Given the description of an element on the screen output the (x, y) to click on. 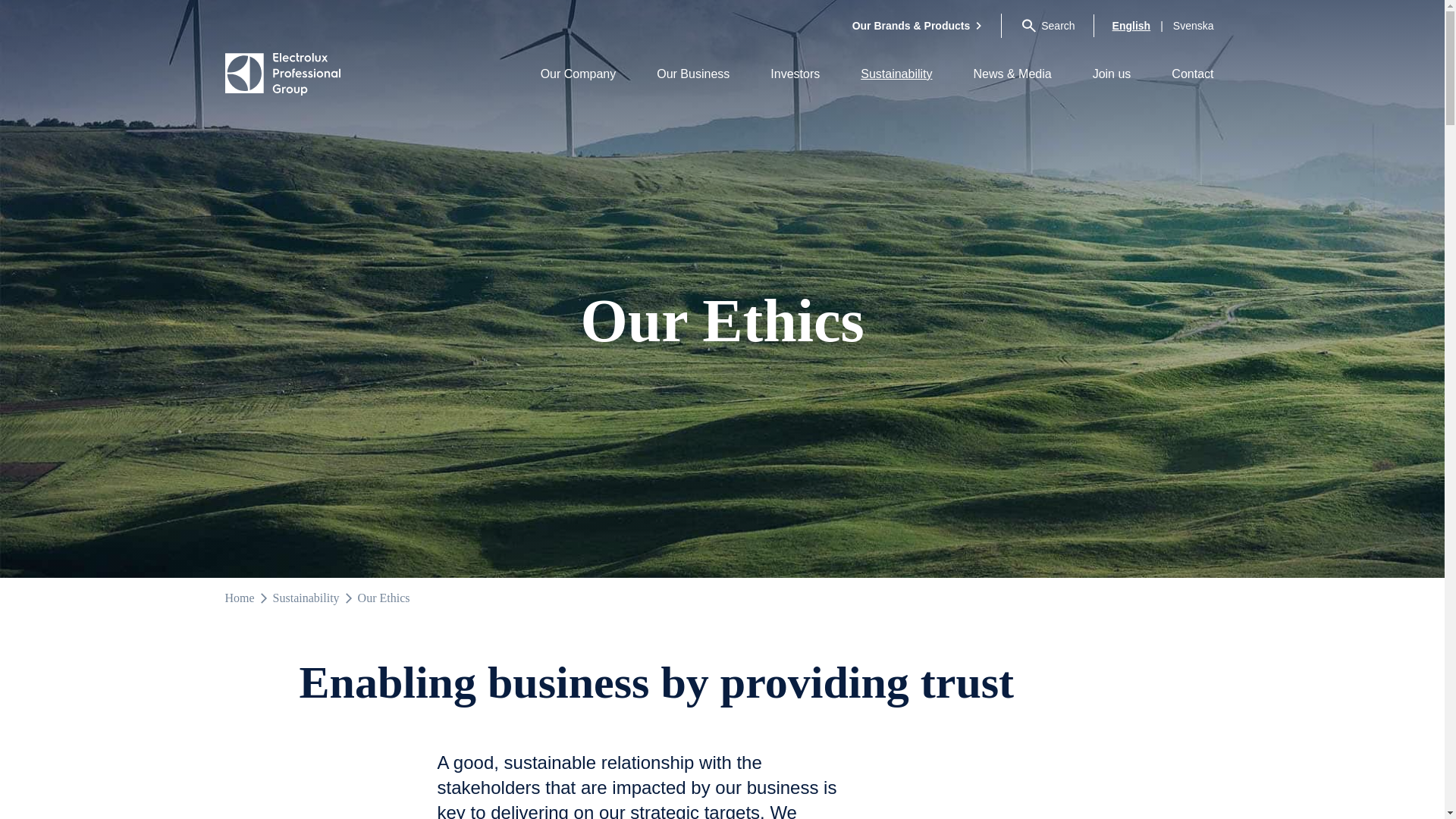
Our Business (692, 73)
Svenska (1193, 25)
English (1131, 25)
Search (1050, 25)
Our Company (578, 73)
